Given the description of an element on the screen output the (x, y) to click on. 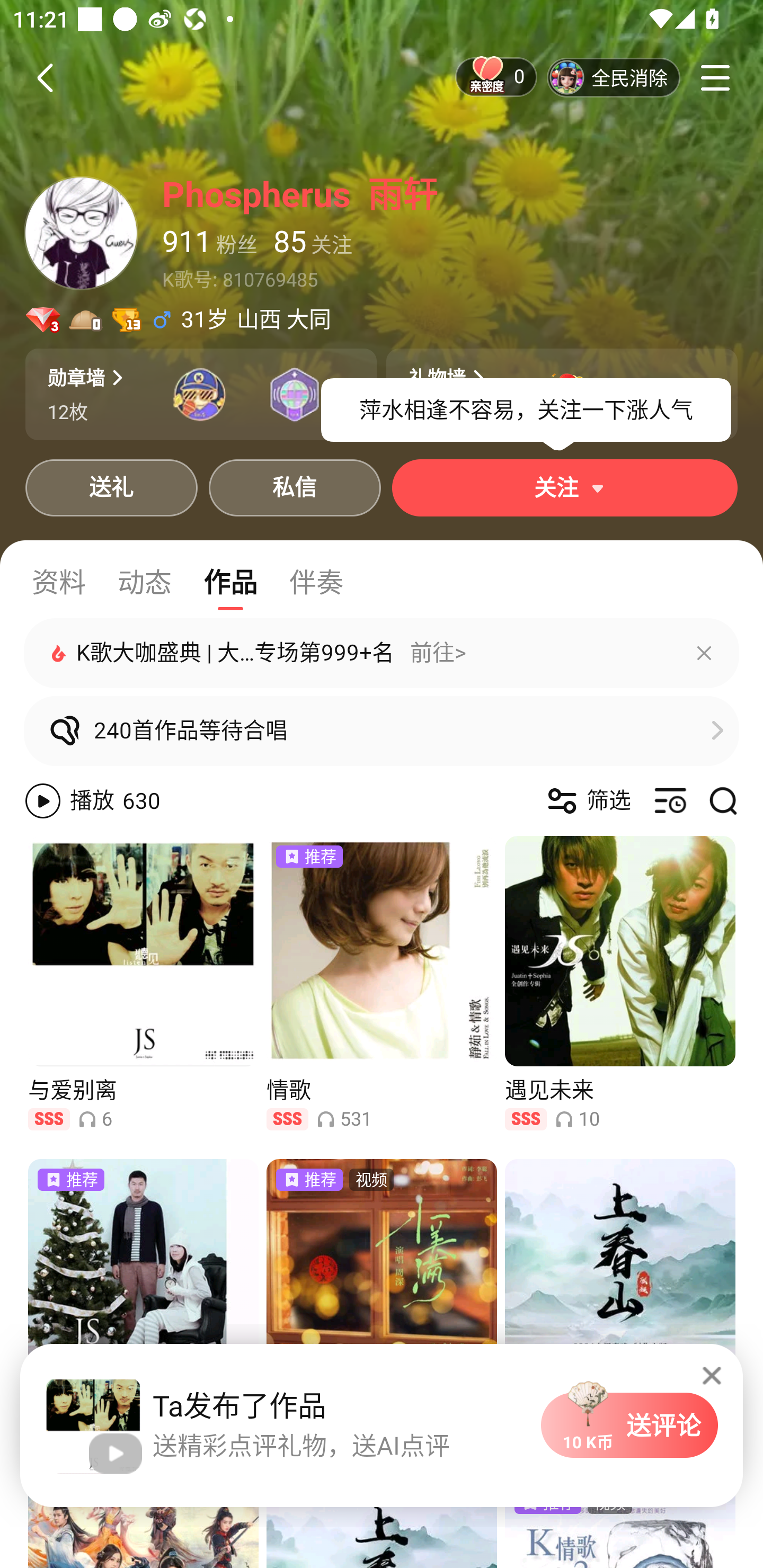
返回 (41, 77)
更多 (715, 77)
亲密度 0 (496, 72)
全民消除 (613, 77)
头像 (80, 232)
911 粉丝 (209, 242)
85 关注 (312, 242)
会员中心 (42, 319)
财富等级 (85, 319)
用户等级 (126, 319)
男性31岁 31岁 (188, 319)
送礼 (111, 487)
私信 (294, 487)
关注 推荐用户展开 (564, 487)
资料 (58, 582)
动态 (144, 582)
作品 (230, 582)
伴奏 (316, 582)
K歌大咖盛典 | 大咖主播专场第999+名 前往> (381, 652)
240首作品等待合唱 (381, 731)
播放 播放630 (68, 801)
筛选 (587, 801)
按时间排序 (669, 801)
搜索 (723, 800)
与爱别离 SSS 6 播放量6 (142, 981)
推荐 情歌 SSS 531 播放量531 (381, 981)
遇见未来 SSS 10 播放量10 (619, 981)
推荐 最后倒数 SSS 562 播放量562 (142, 1304)
推荐 视频 小美满 SSS 1089 播放量1089 (381, 1304)
上春山 SSS 34 播放量34 (619, 1304)
送评论 10 K币 (628, 1425)
